Given the description of an element on the screen output the (x, y) to click on. 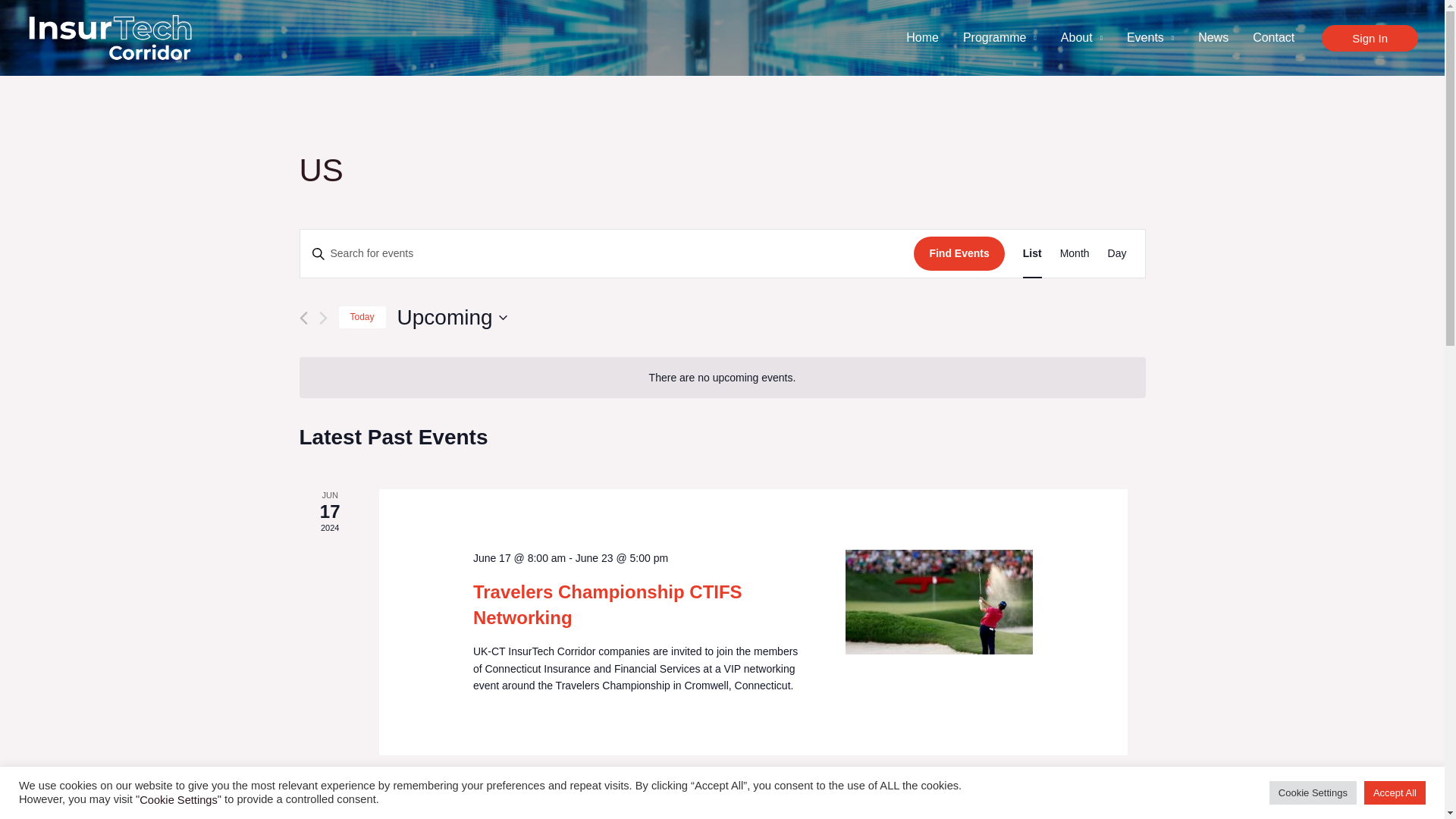
Sign In (1370, 38)
Click to select today's date (361, 317)
Find Events (959, 253)
News (1213, 38)
About (1081, 38)
Travelers Championship CTIFS Networking (607, 604)
Click to toggle datepicker (451, 317)
Travelers Championship CTIFS Networking (938, 601)
Home (921, 38)
Programme (999, 38)
Contact (1273, 38)
Events (1150, 38)
